Given the description of an element on the screen output the (x, y) to click on. 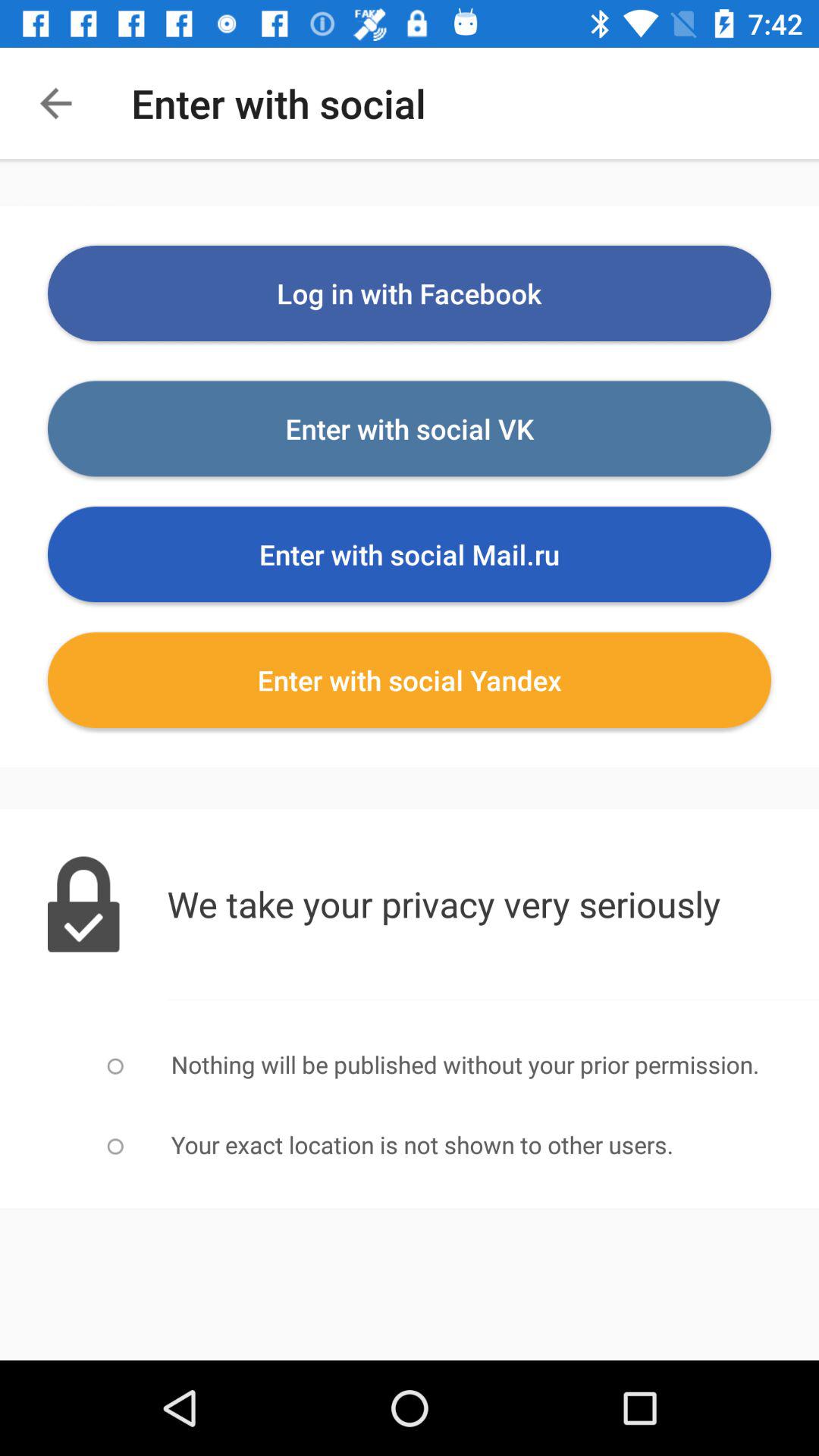
select item above the enter with social (409, 293)
